Given the description of an element on the screen output the (x, y) to click on. 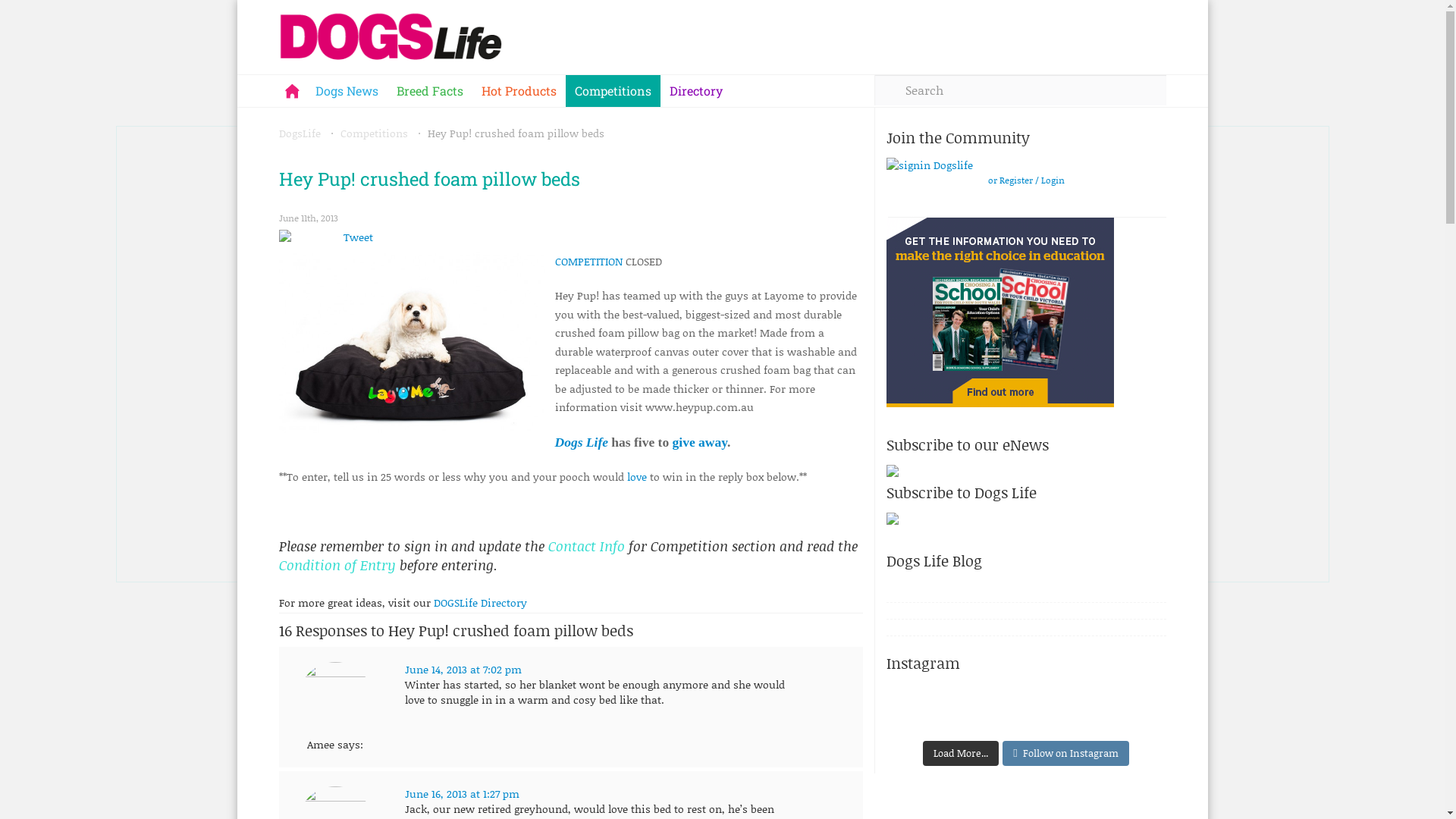
Dogs Element type: text (569, 441)
Life Element type: text (597, 441)
Load More... Element type: text (960, 753)
Breed Facts Element type: text (428, 90)
June 16, 2013 at 1:27 pm Element type: text (461, 793)
June 14, 2013 at 7:02 pm Element type: text (462, 669)
give away Element type: text (699, 441)
or Register / Login Element type: text (1025, 180)
DOGSLife Directory Element type: text (480, 602)
Condition of Entry Element type: text (339, 564)
DogsLife Element type: text (299, 133)
COMPETITION Element type: text (588, 261)
Follow on Instagram Element type: text (1065, 753)
Hot Products Element type: text (517, 90)
3rd party ad content Element type: hover (999, 312)
Competitions Element type: text (612, 90)
Contact Info Element type: text (587, 545)
Competitions Element type: text (373, 133)
Tweet Element type: text (357, 236)
Directory Element type: text (695, 90)
Dogs News Element type: text (346, 90)
love Element type: text (636, 476)
